Given the description of an element on the screen output the (x, y) to click on. 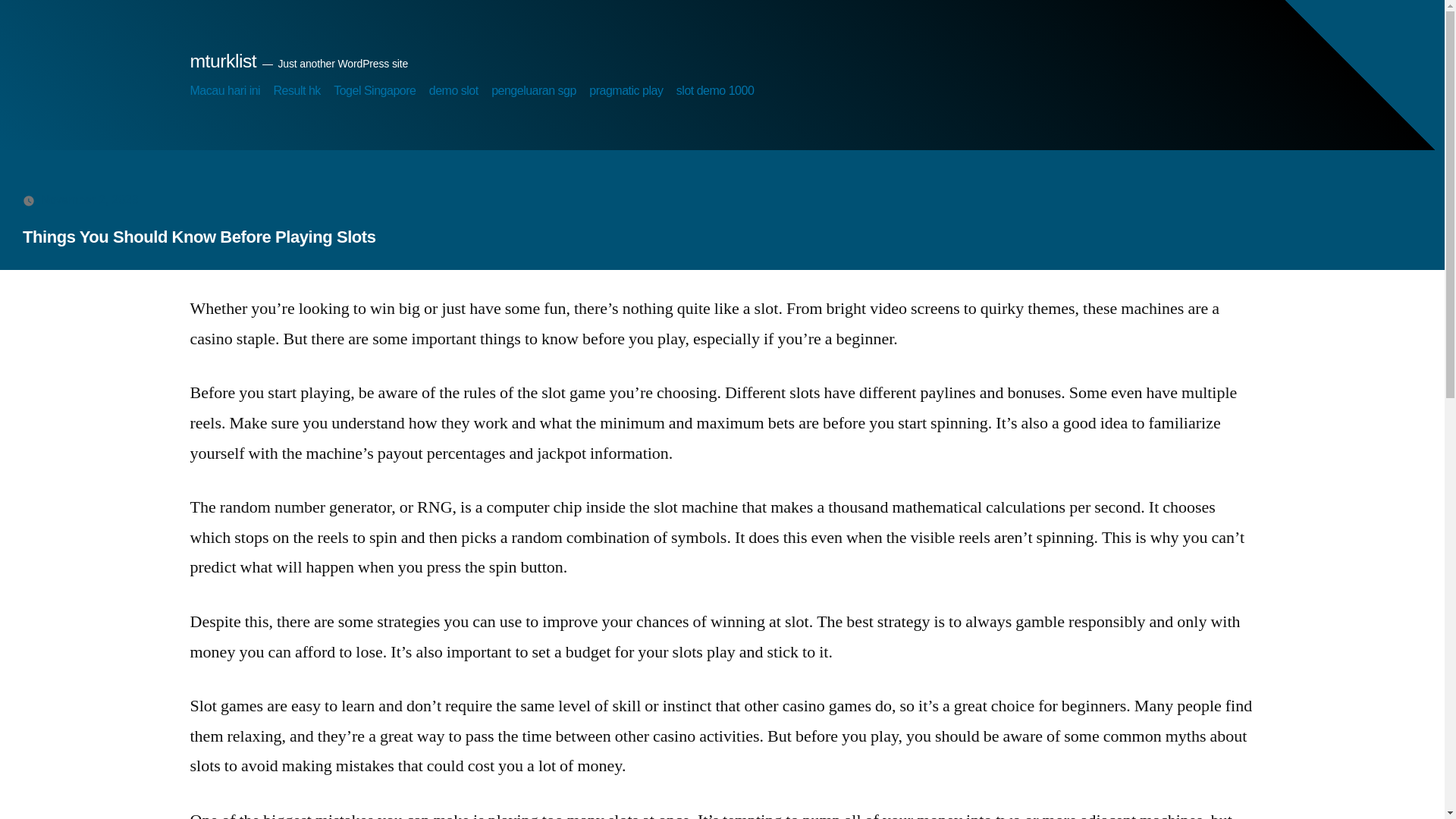
Togel Singapore (373, 90)
pengeluaran sgp (534, 90)
November 2, 2023 (89, 199)
pragmatic play (625, 90)
Result hk (296, 90)
Macau hari ini (224, 90)
demo slot (454, 90)
slot demo 1000 (715, 90)
mturklist (222, 60)
